Given the description of an element on the screen output the (x, y) to click on. 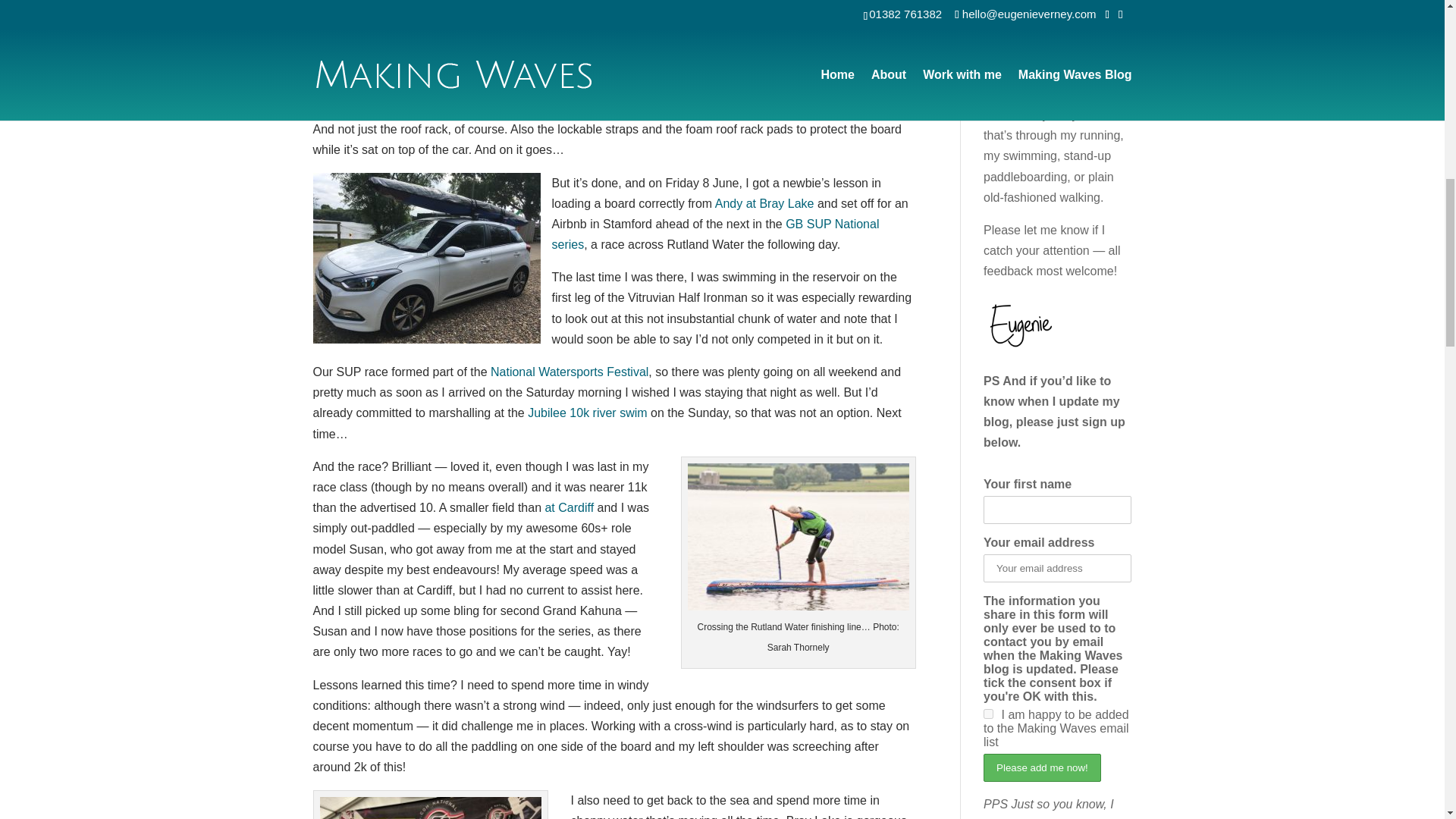
Please add me now! (1042, 767)
Jubilee 10k river swim (586, 412)
4c7f6ba955 (988, 714)
National Watersports Festival (568, 371)
Andy at Bray Lake (763, 203)
GB SUP National series (715, 233)
at Cardiff (569, 507)
